Given the description of an element on the screen output the (x, y) to click on. 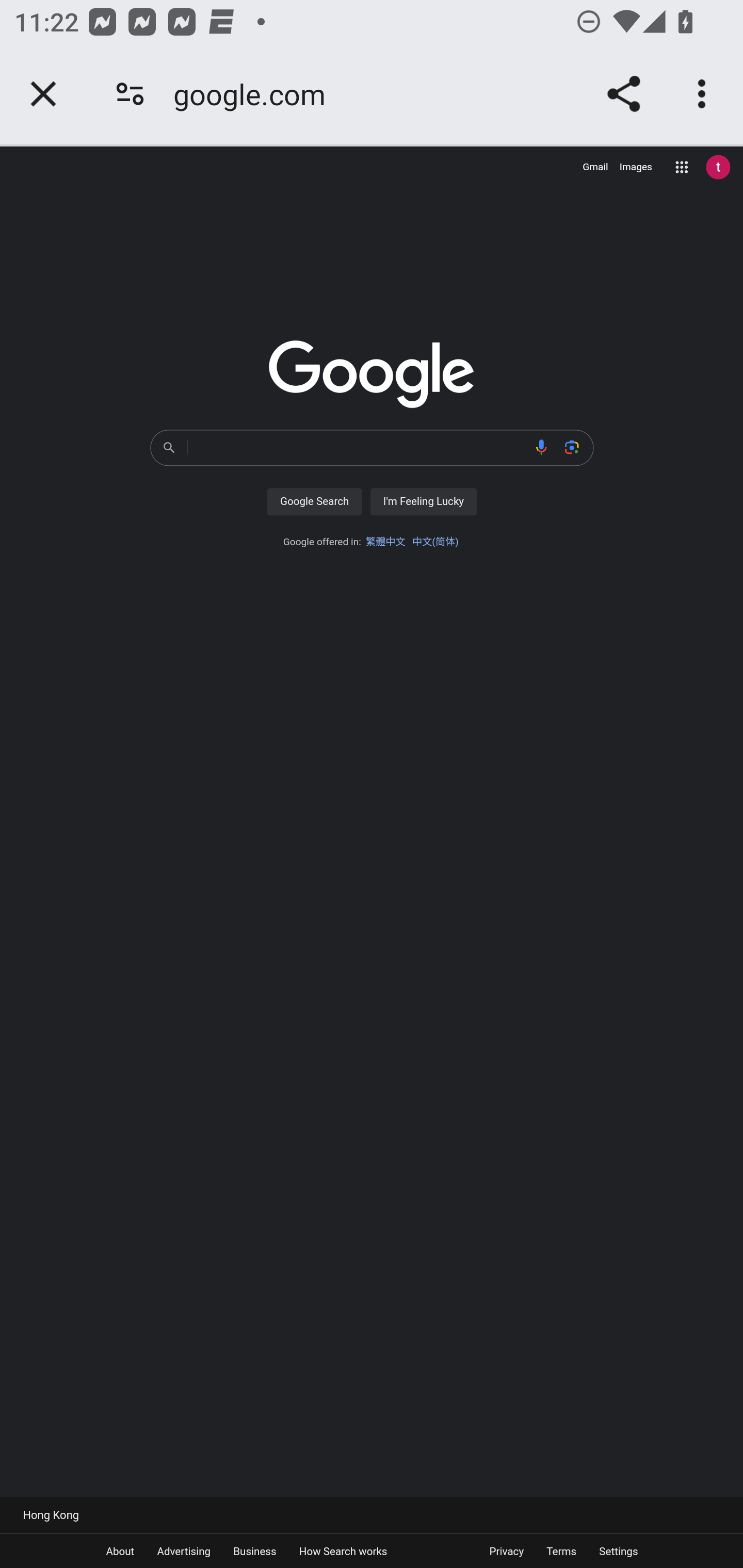
Close tab (43, 93)
Share (623, 93)
Customize and control Google Chrome (705, 93)
Connection is secure (129, 93)
google.com (256, 93)
Google apps (681, 167)
Gmail (opens a new tab) Gmail (594, 166)
Search for Images (opens a new tab) Images (635, 166)
Search by voice (541, 446)
Search by image (571, 446)
Google Search (313, 501)
I'm Feeling Lucky (423, 501)
繁體中文 (384, 541)
中文(简体) (435, 541)
About (119, 1550)
Advertising (183, 1550)
Business (254, 1550)
How Search works (342, 1550)
Privacy (506, 1550)
Terms (561, 1550)
Settings (617, 1550)
